Given the description of an element on the screen output the (x, y) to click on. 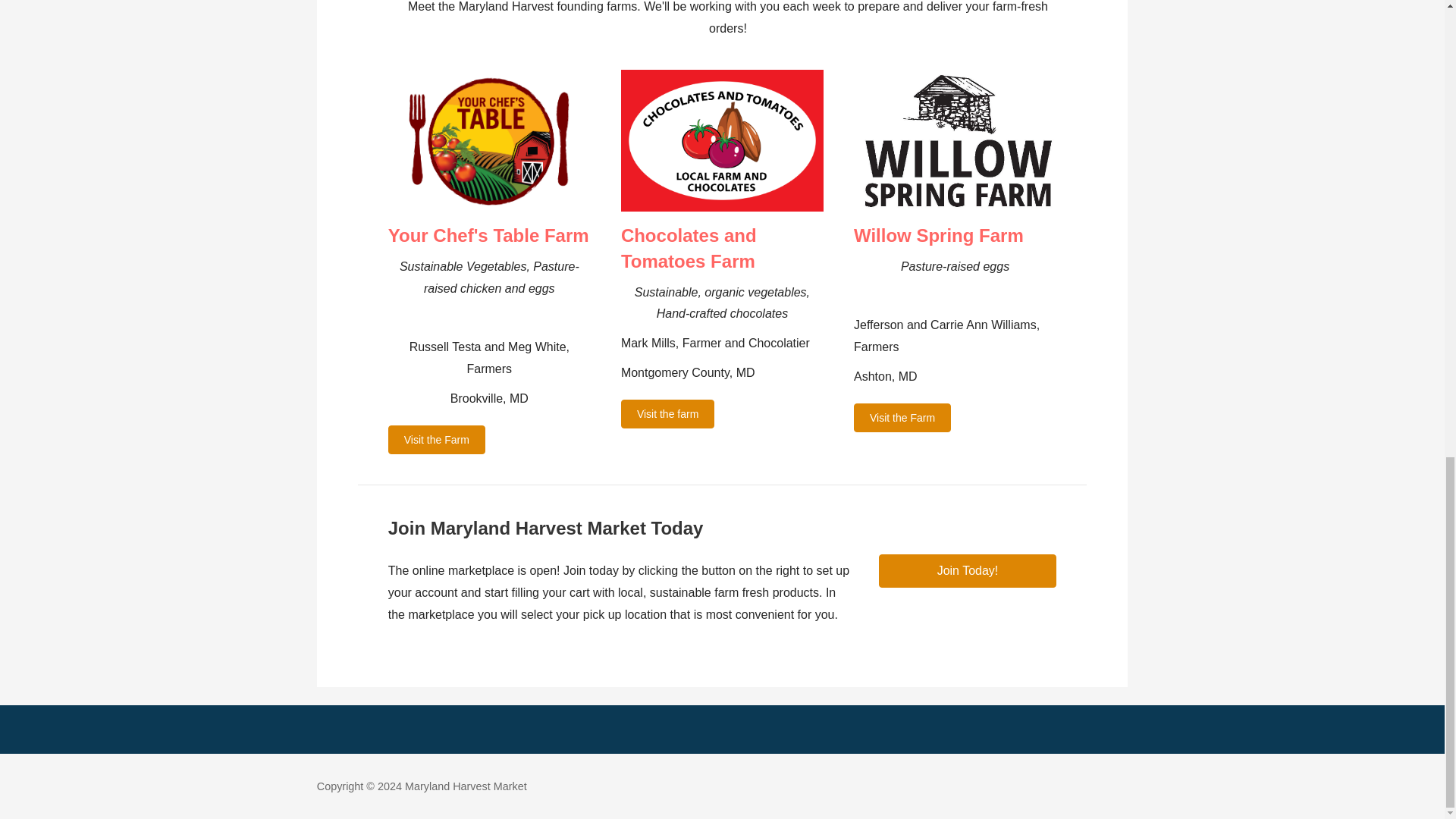
Visit the Farm (901, 417)
Chocolates and Tomatoes Farm (689, 248)
Willow Spring Farm (938, 235)
Your Chef's Table Farm (488, 235)
Visit the farm (667, 413)
Visit the Farm (436, 439)
WSF Logo (955, 140)
Join Today! (968, 571)
